Given the description of an element on the screen output the (x, y) to click on. 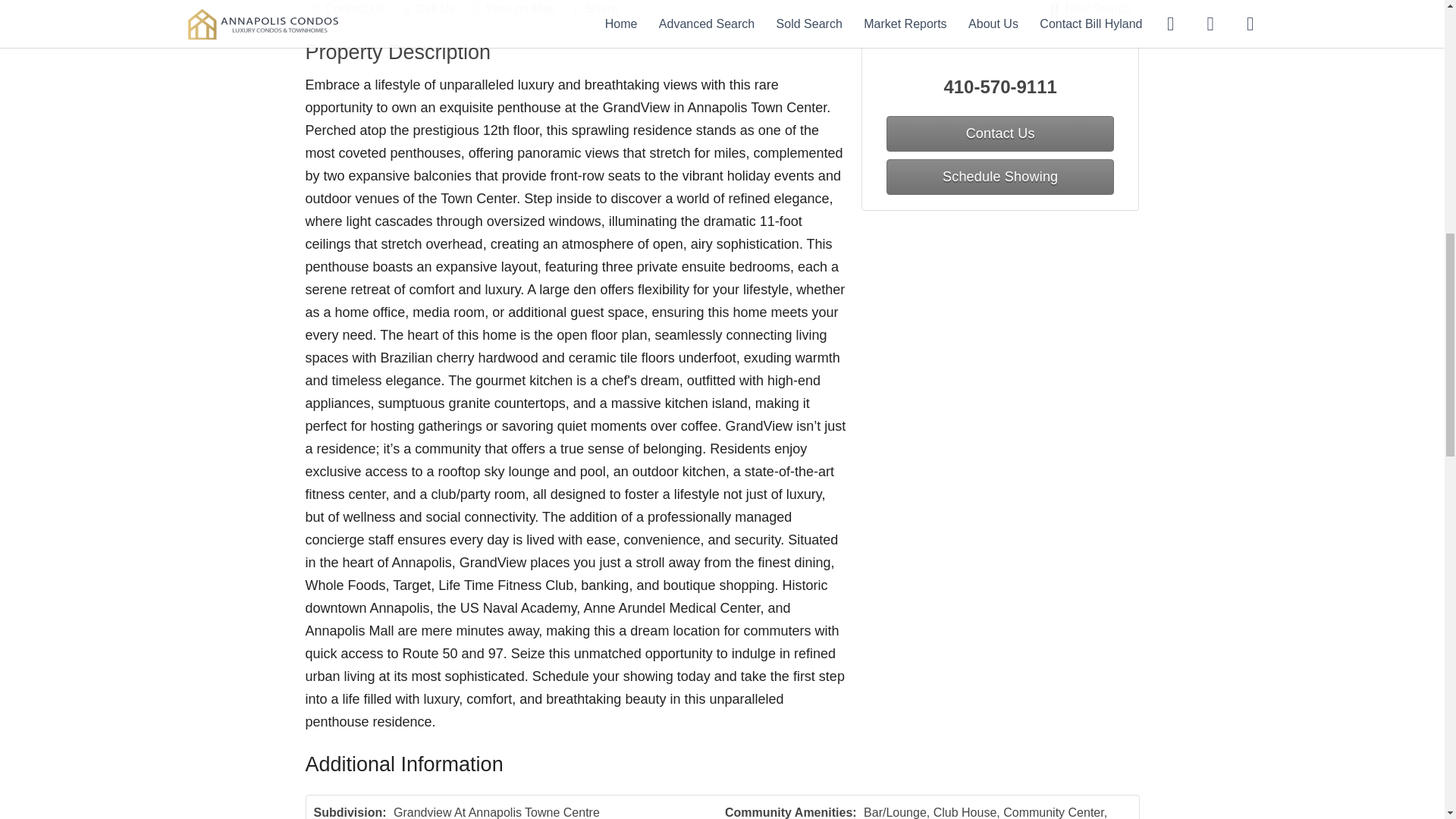
410-570-9111 (1000, 86)
View on Map (521, 10)
Share (603, 10)
Contact Us (357, 10)
New Search (1090, 10)
Call Us (437, 10)
